Given the description of an element on the screen output the (x, y) to click on. 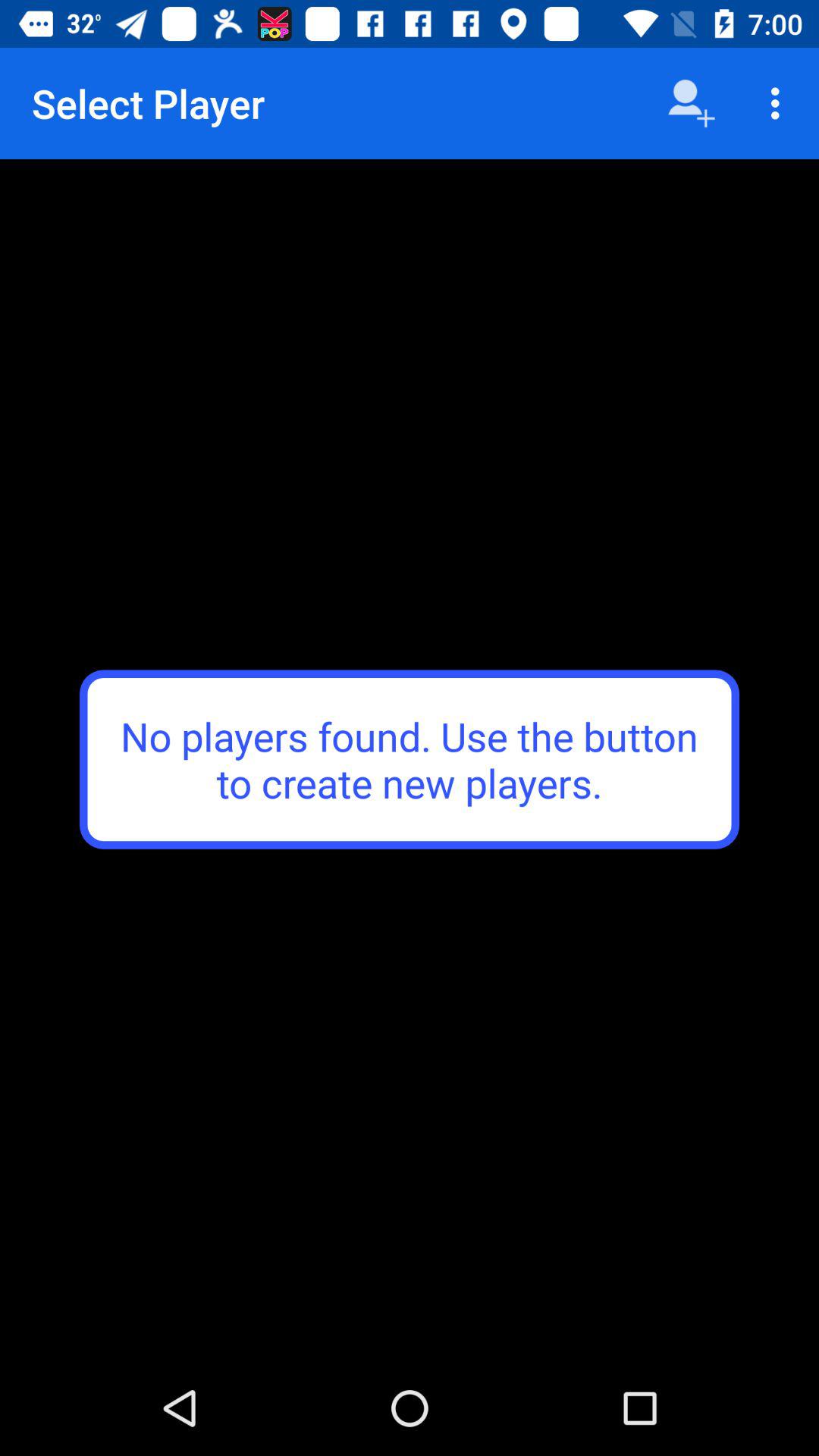
tap the item above the no players found icon (691, 103)
